Given the description of an element on the screen output the (x, y) to click on. 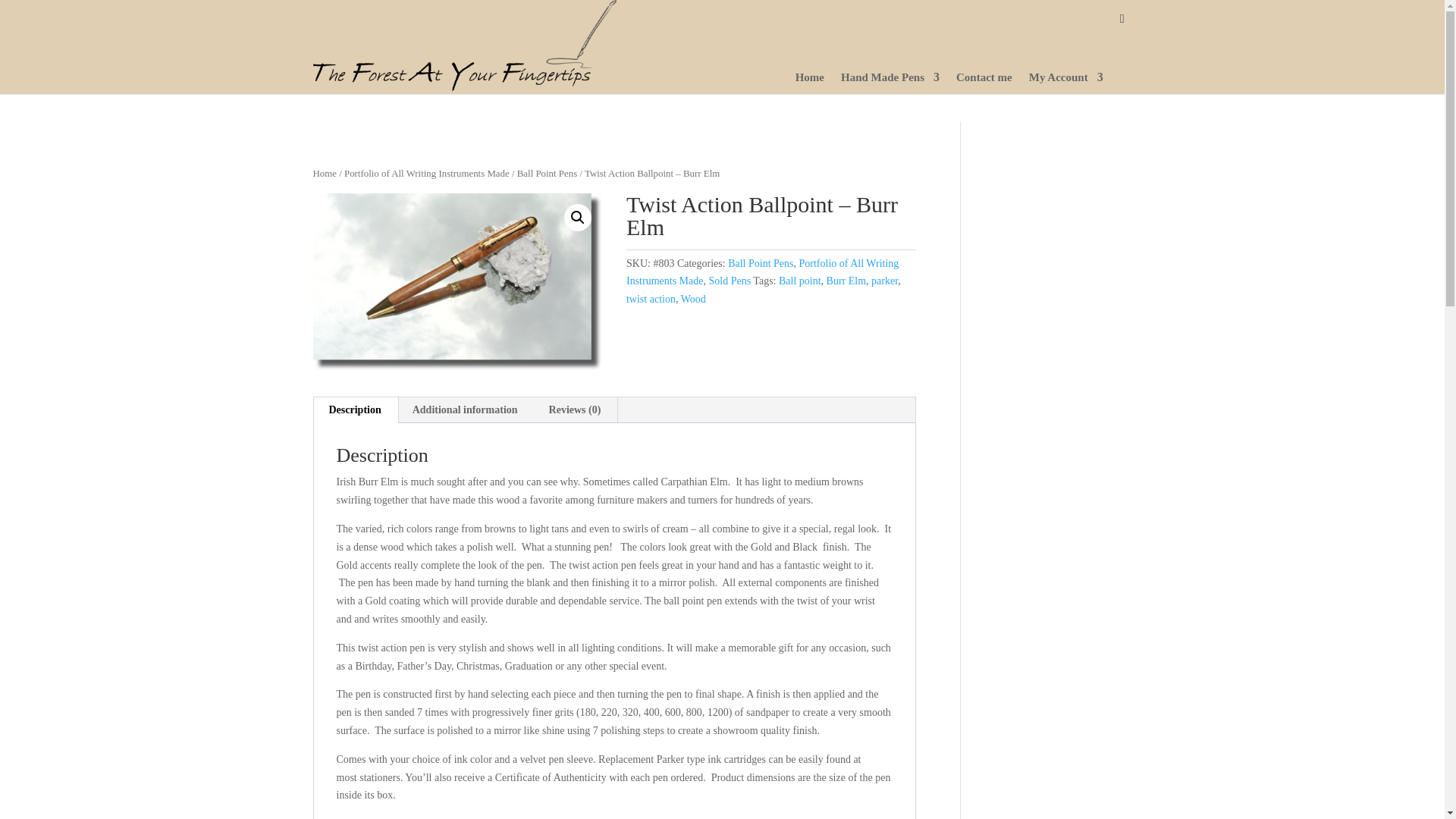
Home (324, 173)
Description (355, 410)
Ball Point Pens (546, 173)
Portfolio of All Writing Instruments Made (426, 173)
Sold Pens (729, 280)
Wood (693, 298)
Portfolio of All Writing Instruments Made (762, 272)
My Account (1066, 83)
Burr Elm (846, 280)
Contact me (983, 83)
twist action (650, 298)
Ball Point Pens (760, 263)
Hand Made Pens (890, 83)
parker (884, 280)
Additional information (465, 410)
